Given the description of an element on the screen output the (x, y) to click on. 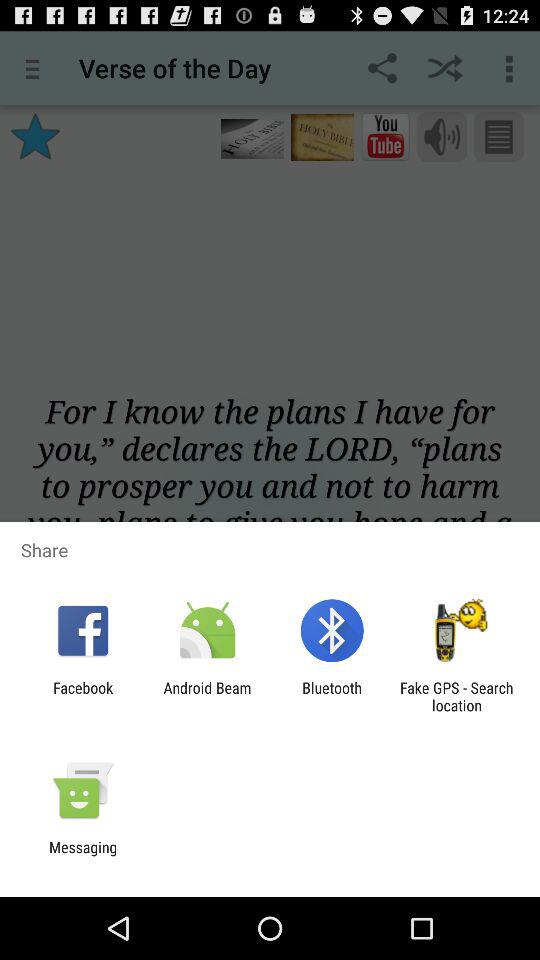
turn on app to the right of android beam item (331, 696)
